Given the description of an element on the screen output the (x, y) to click on. 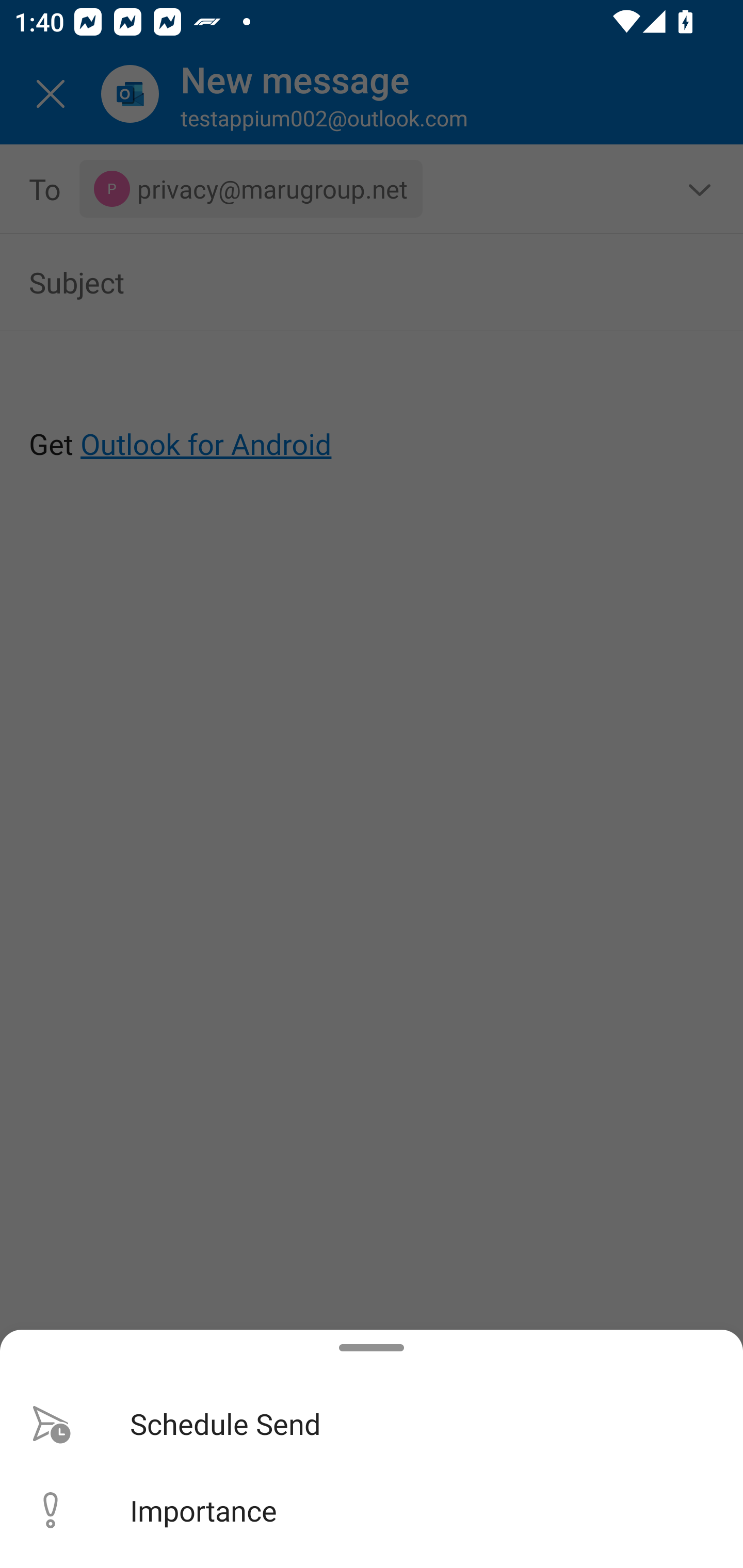
Schedule Send (371, 1423)
Importance (371, 1510)
